Given the description of an element on the screen output the (x, y) to click on. 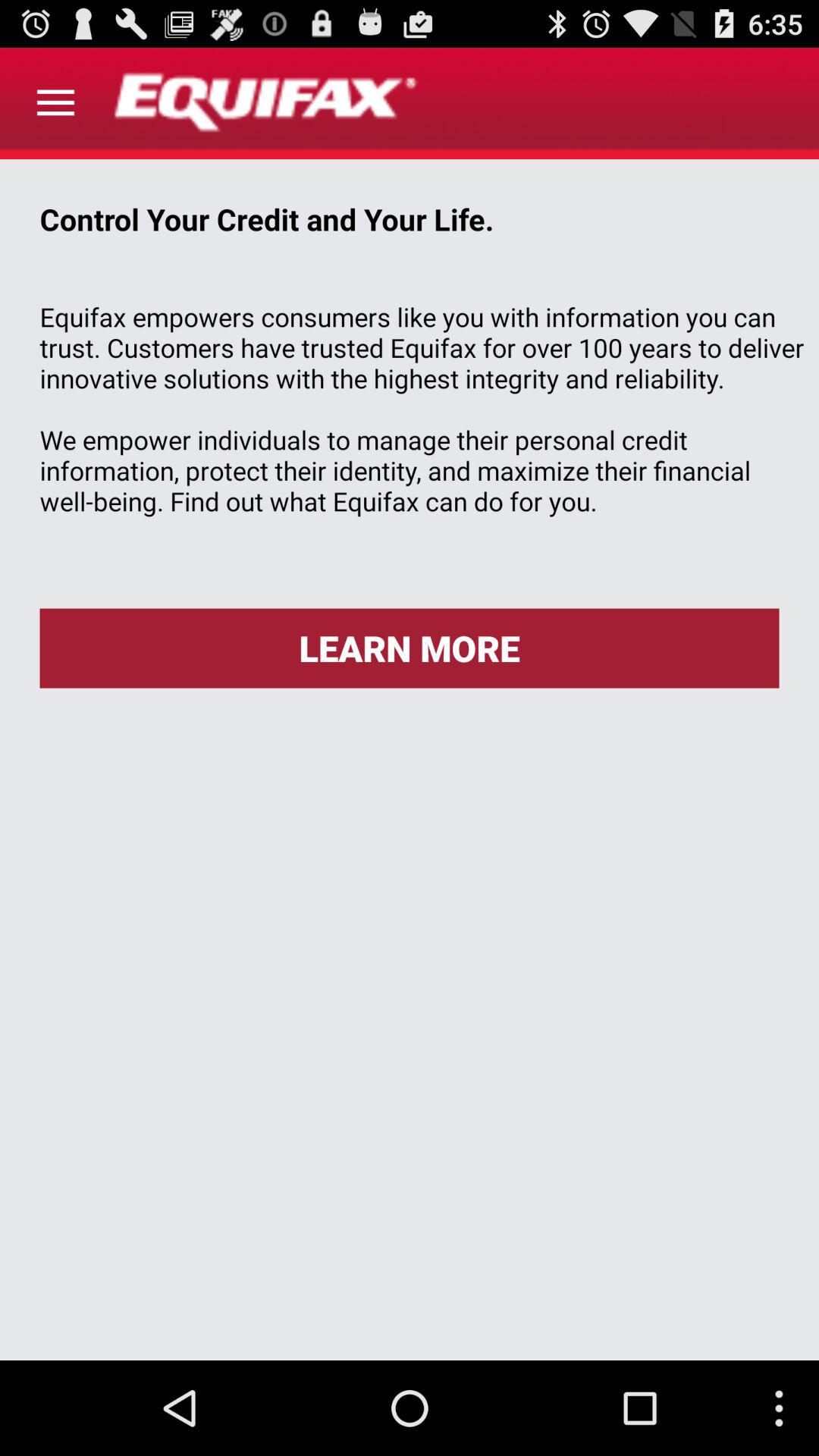
select the item above control your credit icon (55, 103)
